Given the description of an element on the screen output the (x, y) to click on. 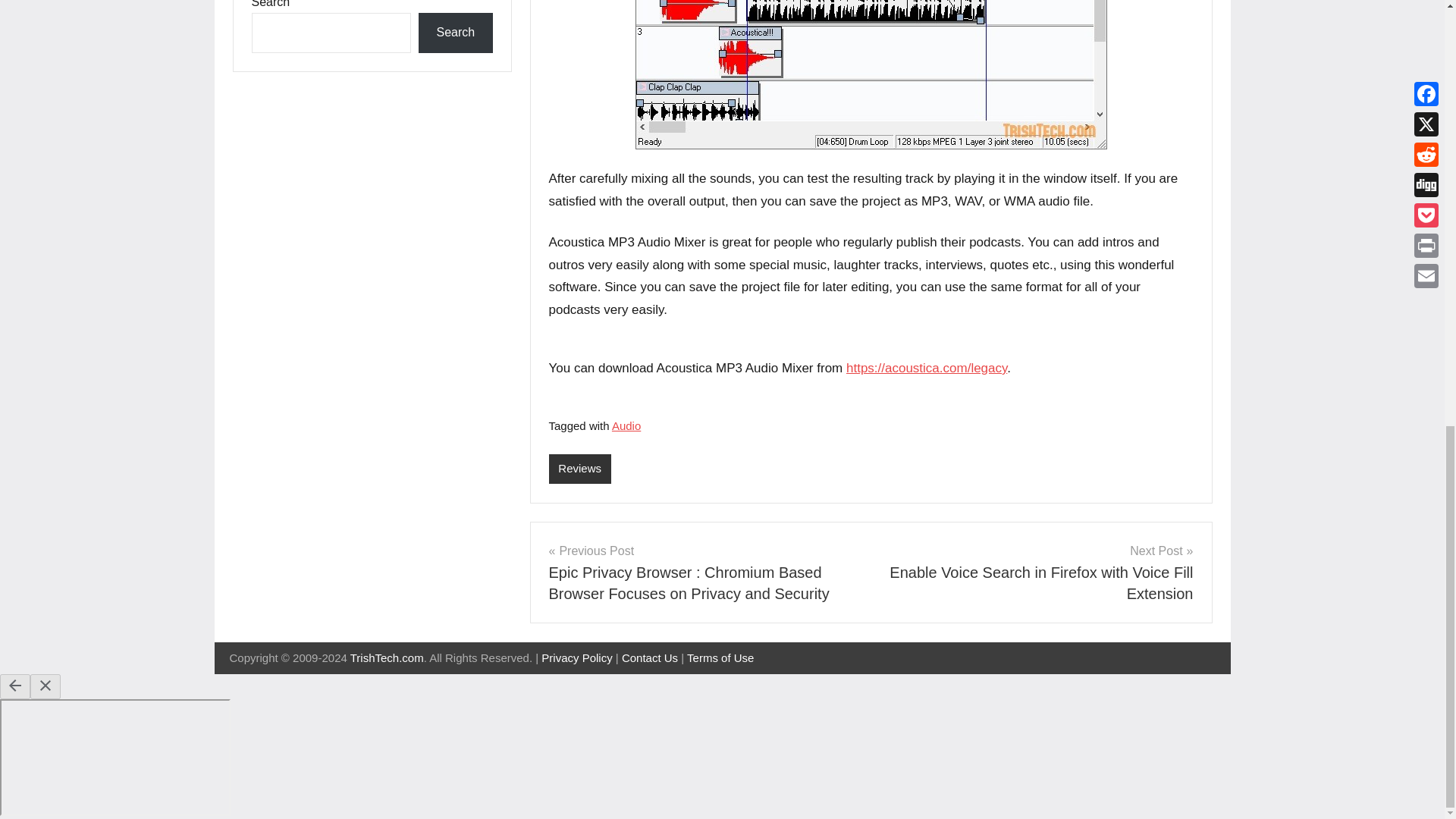
Search (455, 33)
Audio (625, 425)
TrishTech.com (386, 657)
Terms of Use (720, 657)
Privacy Policy (576, 657)
Contact Us (649, 657)
Reviews (579, 469)
